Given the description of an element on the screen output the (x, y) to click on. 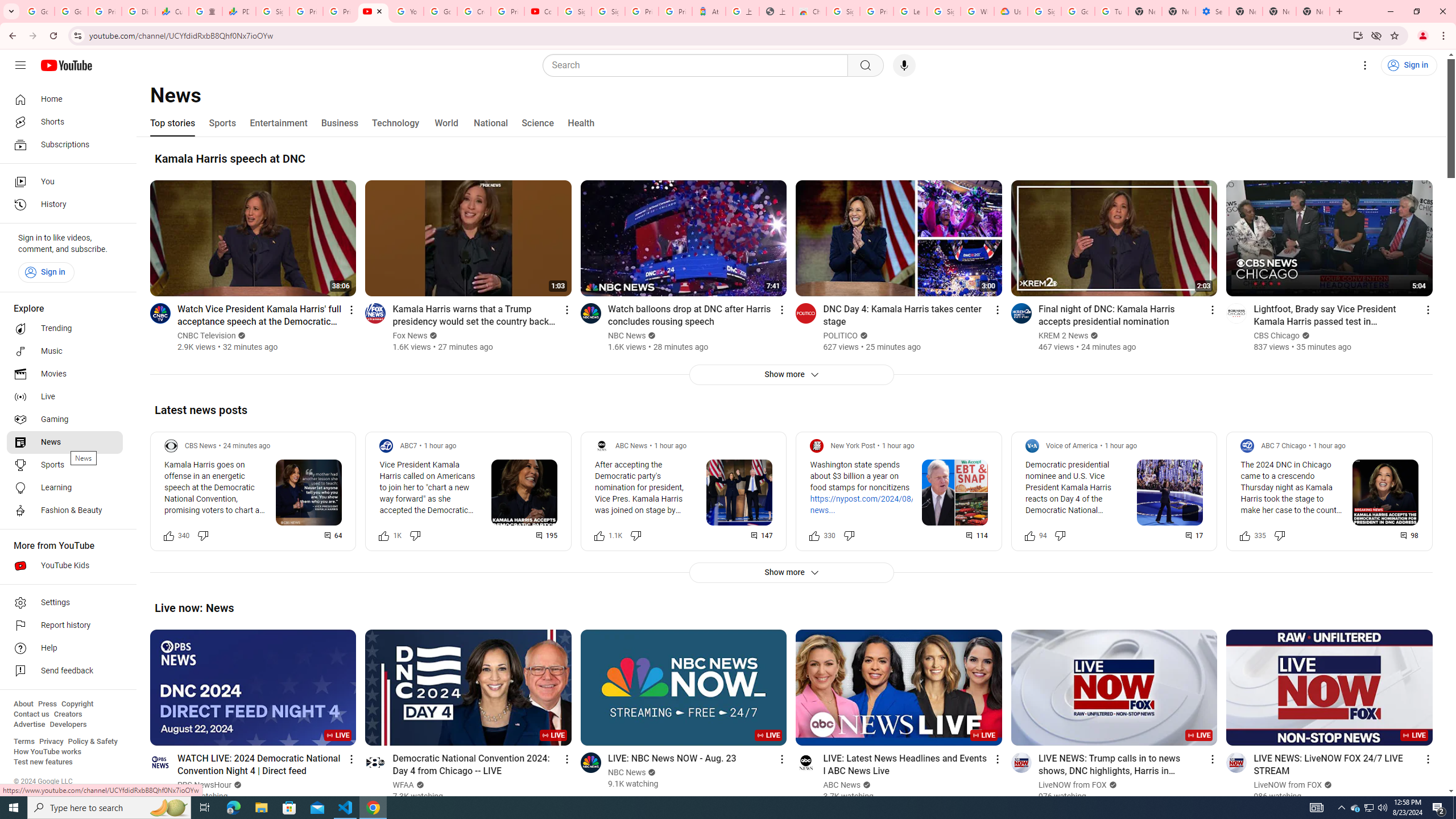
Dislike this post (1278, 534)
YouTube (406, 11)
Content Creator Programs & Opportunities - YouTube Creators (541, 11)
Music (64, 350)
Learning (64, 487)
WFAA (403, 784)
ABC News (841, 784)
Fashion & Beauty (64, 510)
